Given the description of an element on the screen output the (x, y) to click on. 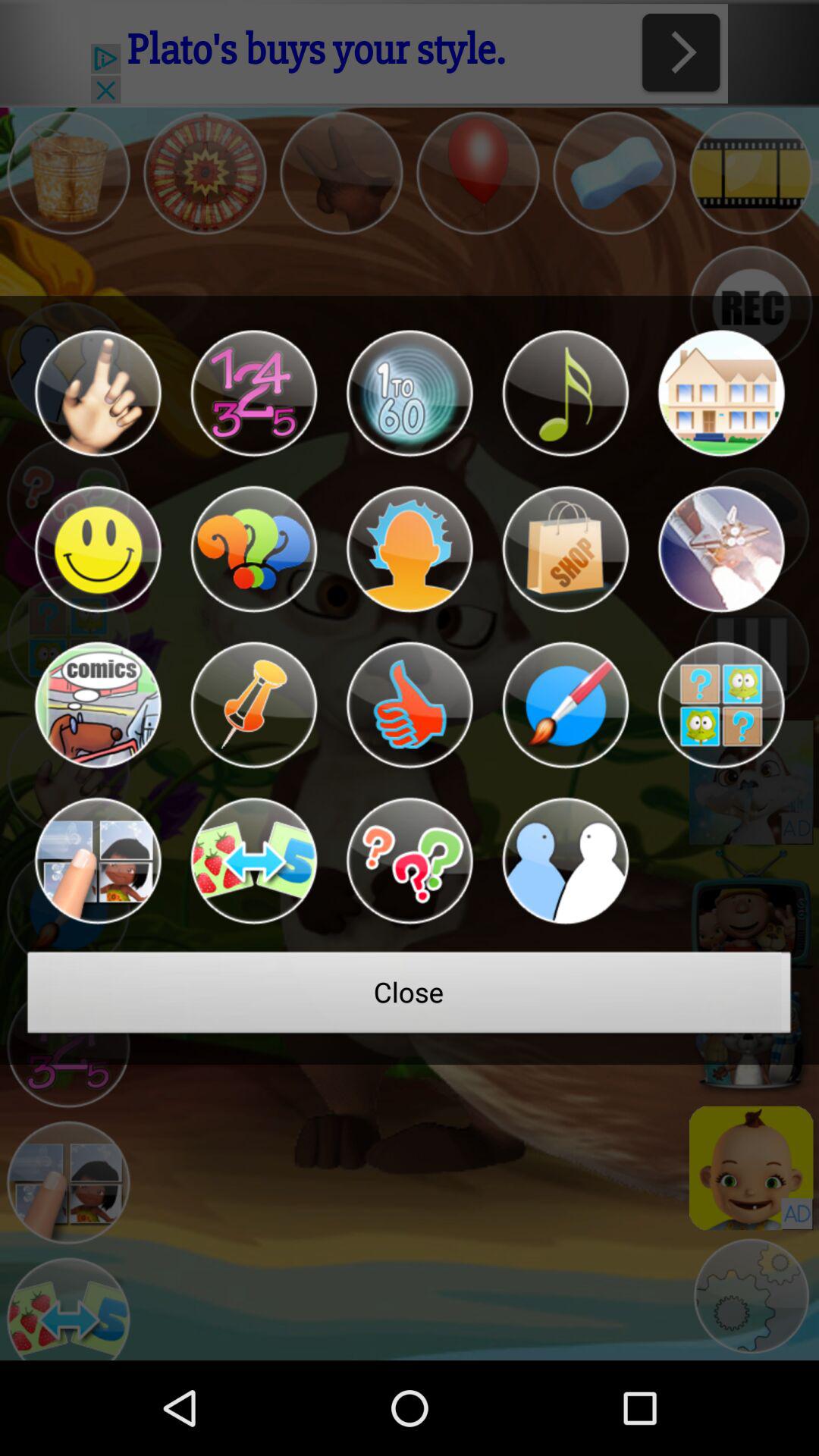
open the shop (565, 549)
